Given the description of an element on the screen output the (x, y) to click on. 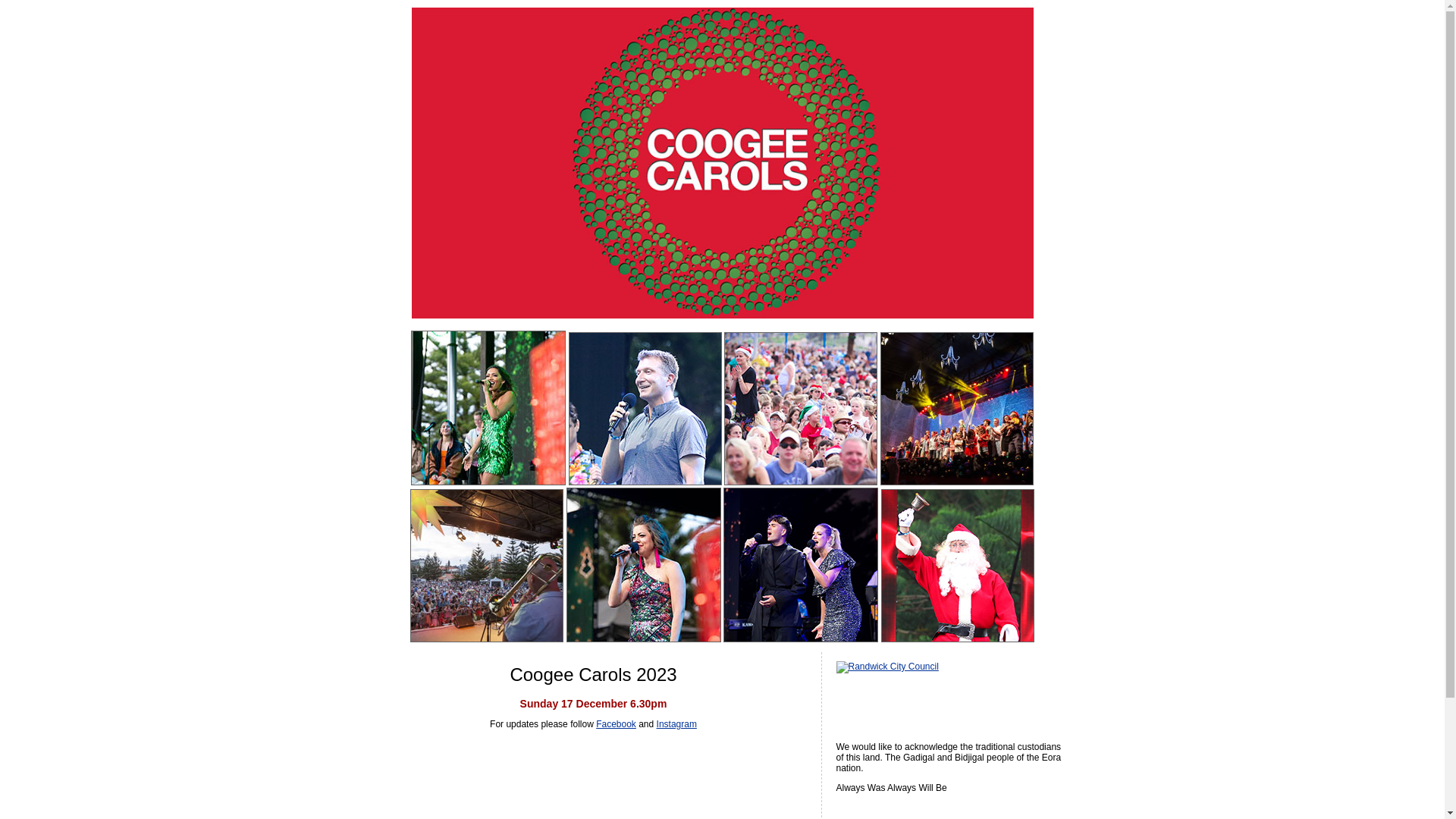
Click to view full image Element type: hover (486, 565)
Click to view full image Element type: hover (800, 408)
Instagram Element type: text (676, 723)
Click to view full image Element type: hover (488, 407)
Click to view full image Element type: hover (800, 564)
Click to view full image Element type: hover (957, 565)
Click to view full image Element type: hover (956, 408)
Click to view full image Element type: hover (643, 564)
Click to view full image Element type: hover (644, 408)
Facebook Element type: text (616, 723)
